Given the description of an element on the screen output the (x, y) to click on. 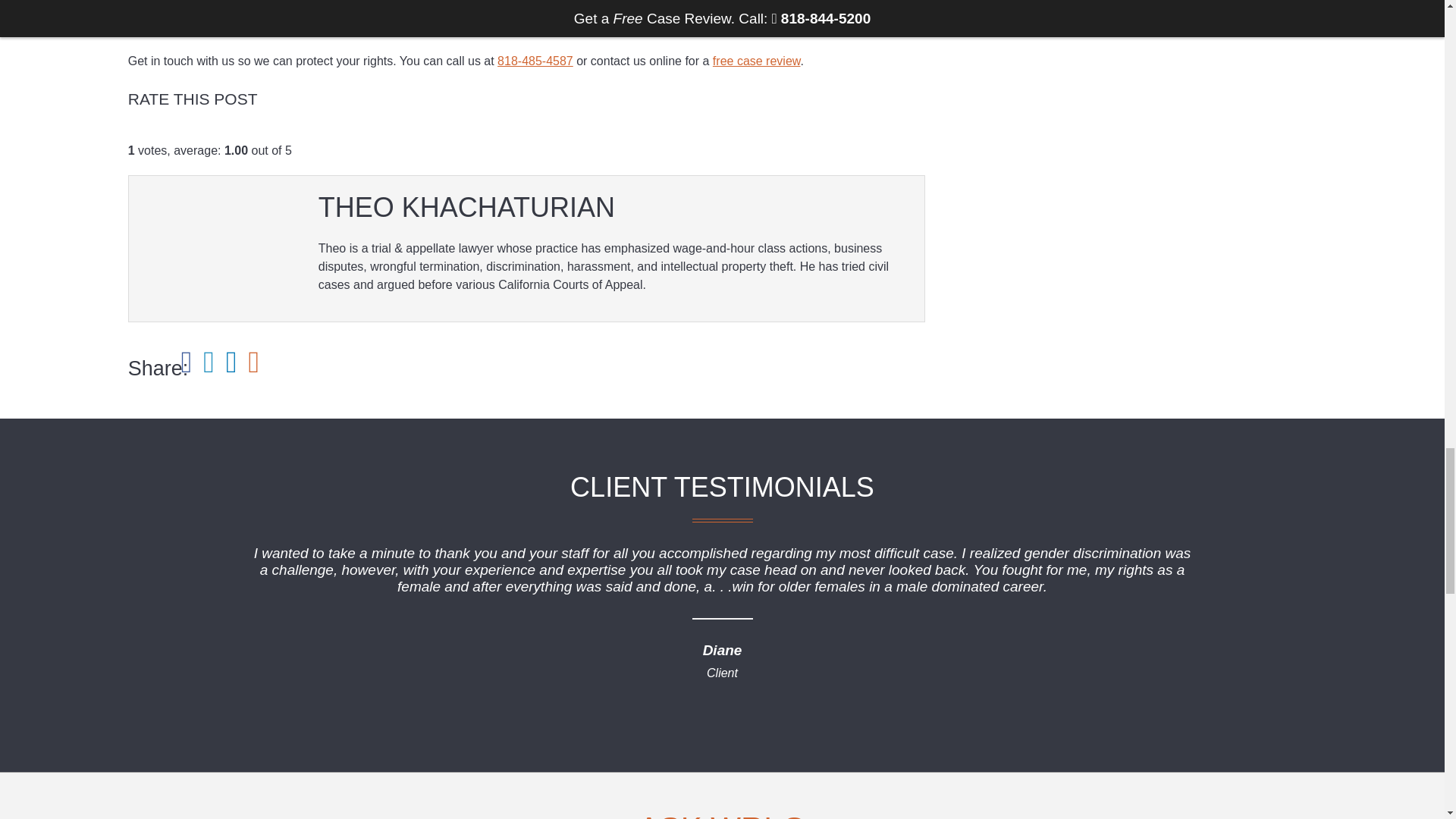
4 Stars (170, 133)
1 Star (133, 133)
3 Stars (158, 133)
5 Stars (182, 133)
2 Stars (145, 133)
